Given the description of an element on the screen output the (x, y) to click on. 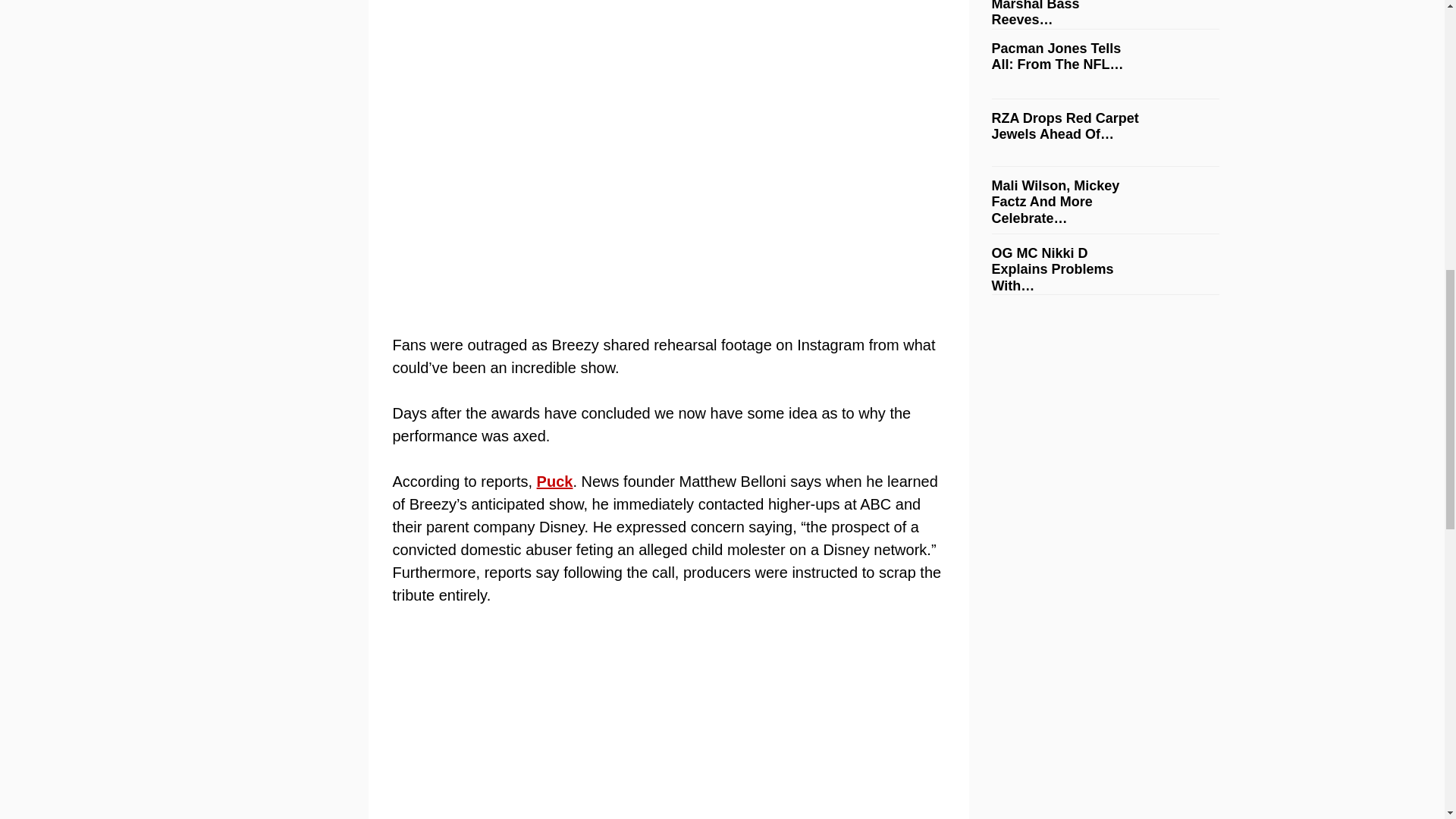
YouTube player (668, 724)
